Given the description of an element on the screen output the (x, y) to click on. 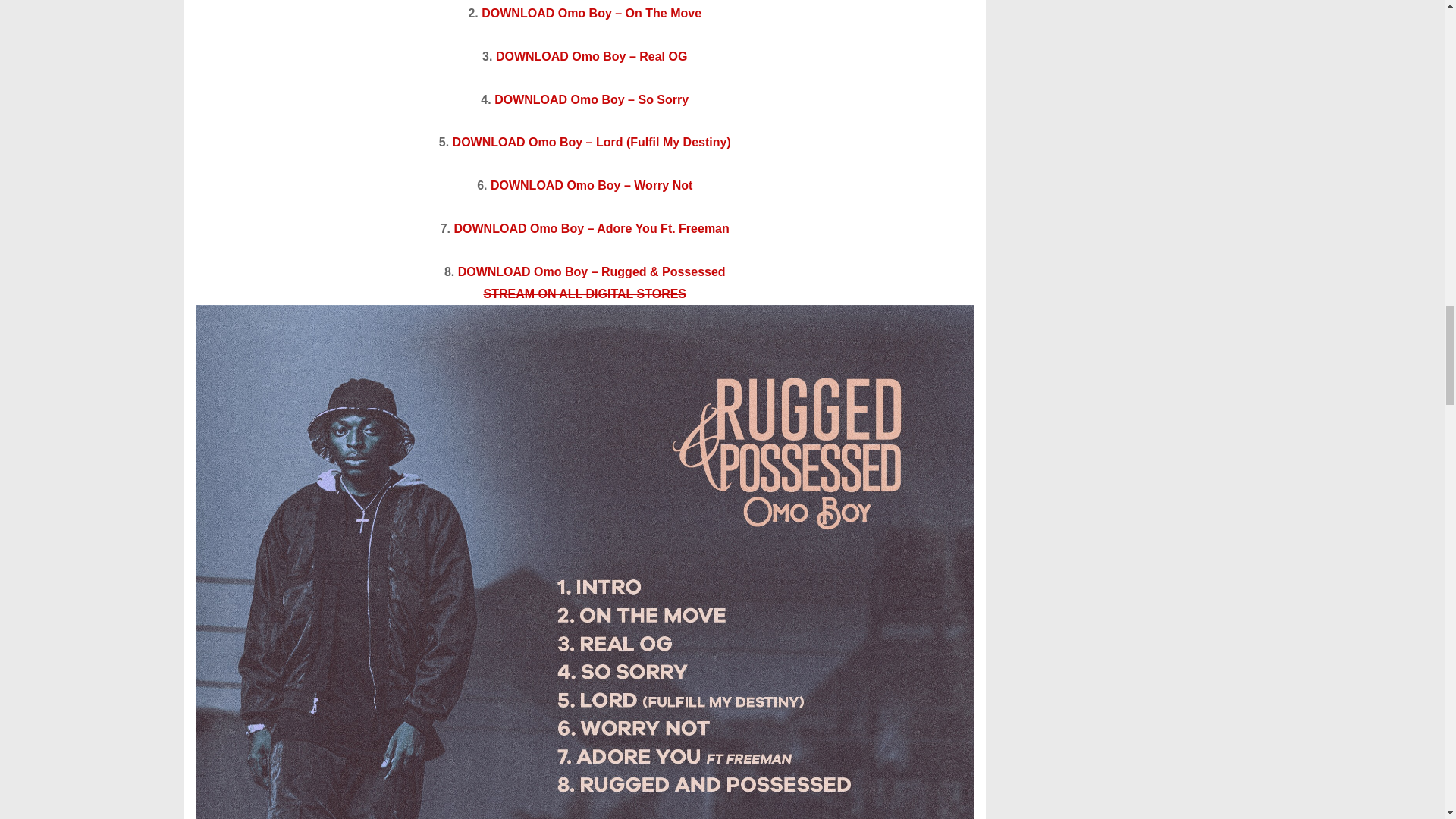
STREAM ON ALL DIGITAL STORES (584, 293)
